Given the description of an element on the screen output the (x, y) to click on. 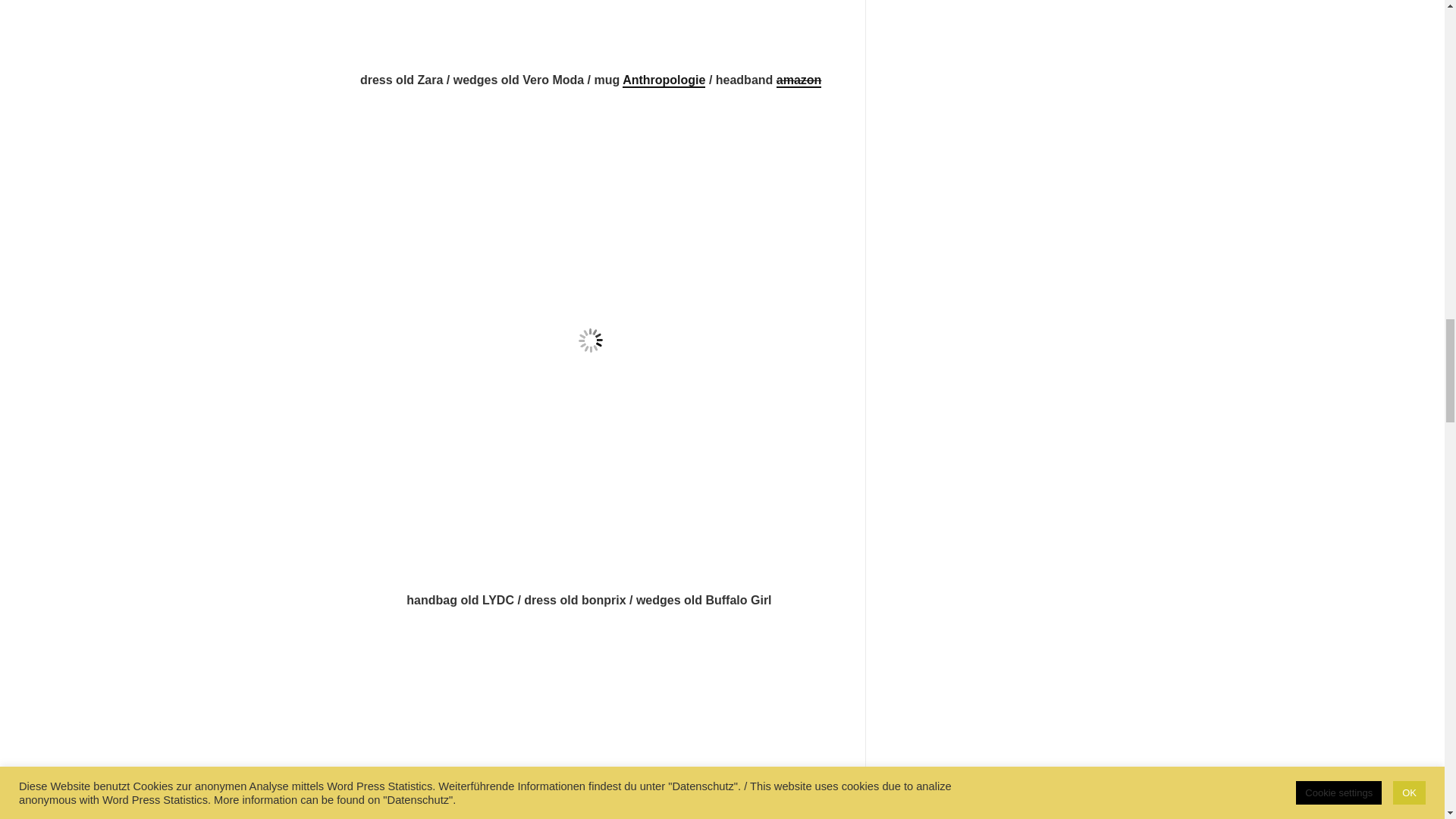
Anthropologie (663, 80)
